Given the description of an element on the screen output the (x, y) to click on. 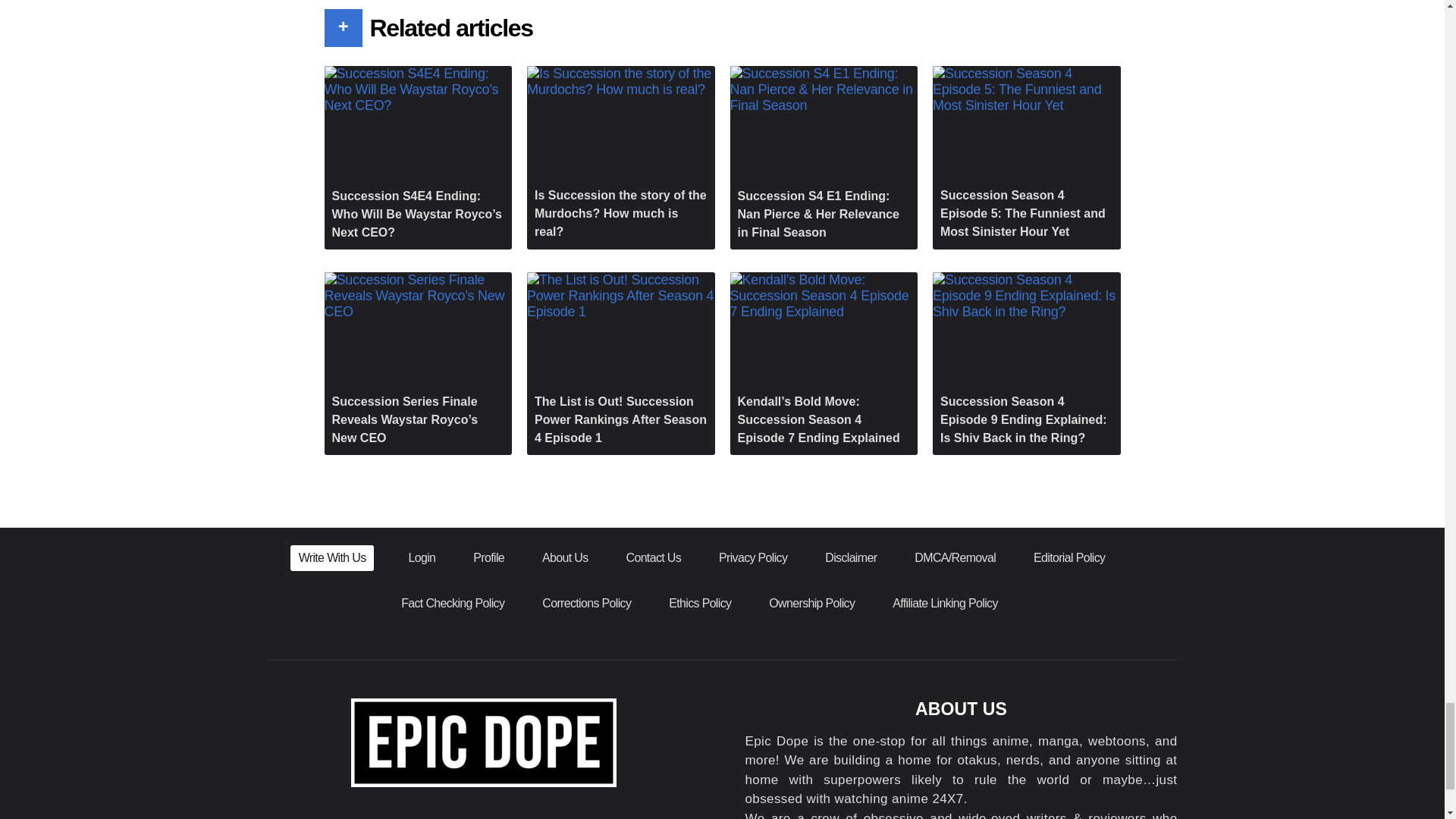
Is Succession the story of the Murdochs? How much is real? (620, 157)
